Given the description of an element on the screen output the (x, y) to click on. 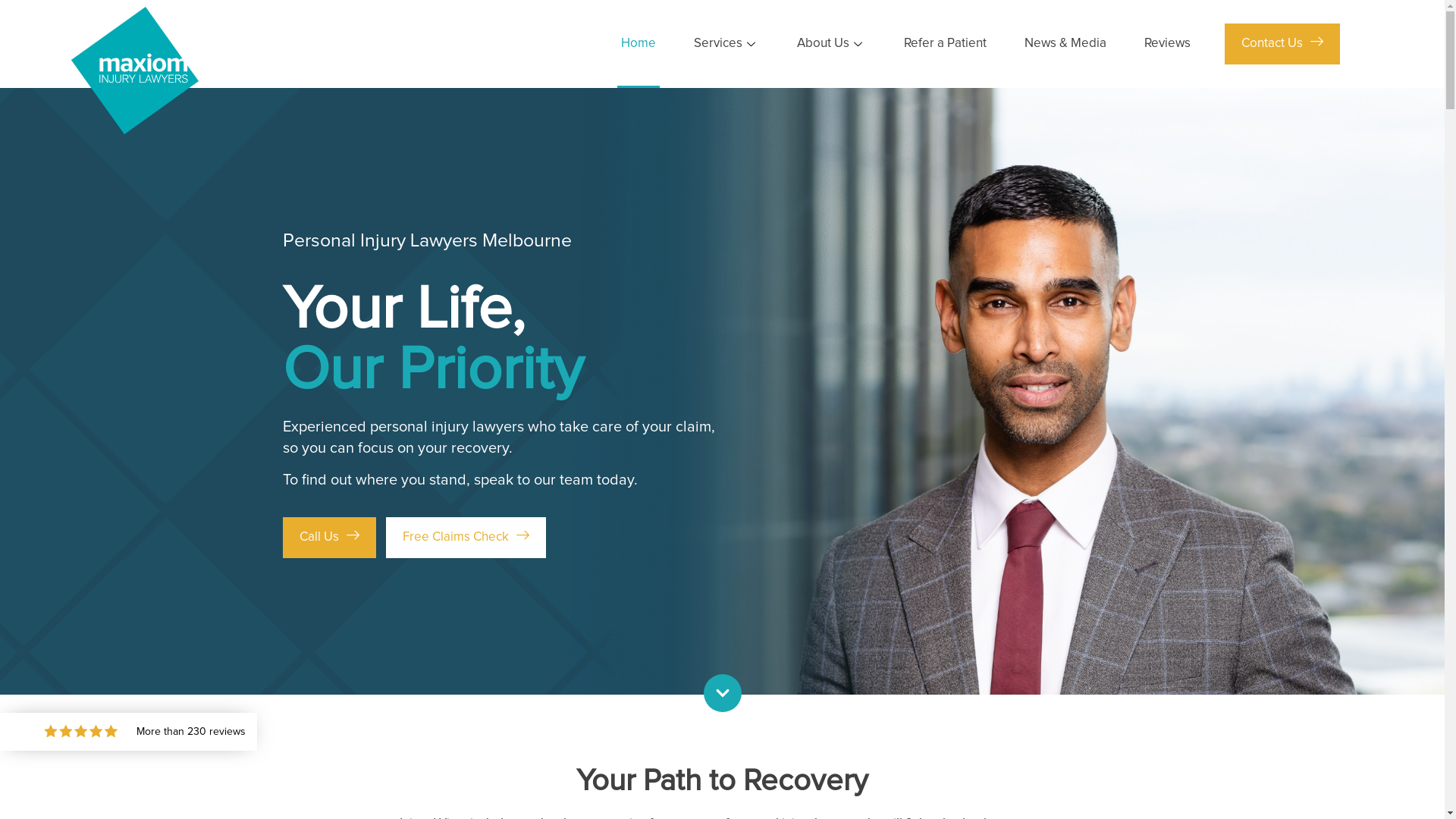
More than 230 reviews Element type: text (128, 731)
Home Element type: text (638, 43)
News & Media Element type: text (1065, 43)
Reviews Element type: text (1167, 43)
About Us Element type: text (831, 43)
Services Element type: text (726, 43)
Call Us Element type: text (328, 537)
Refer a Patient Element type: text (944, 43)
Free Claims Check Element type: text (465, 537)
Contact Us Element type: text (1281, 44)
